Given the description of an element on the screen output the (x, y) to click on. 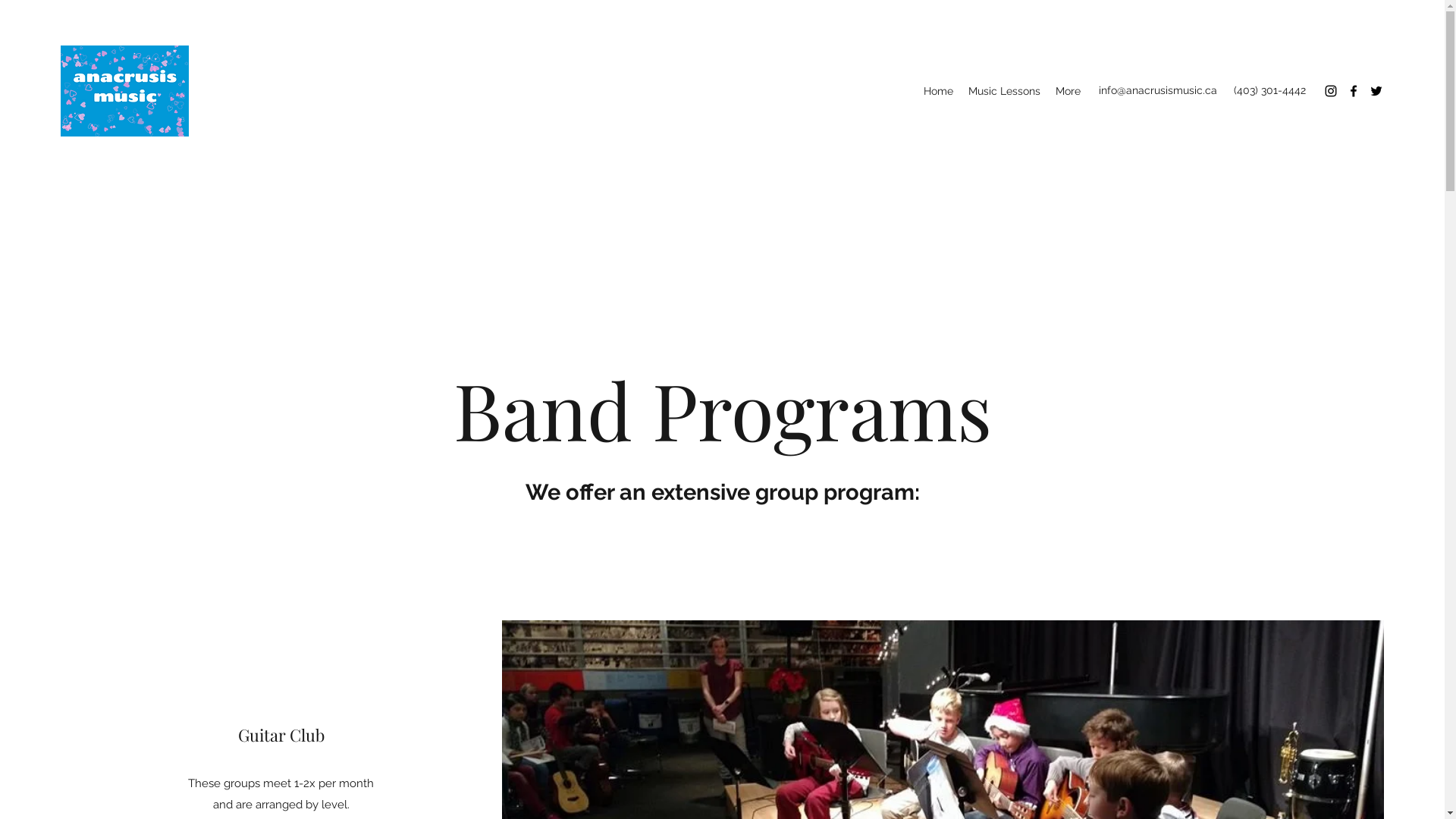
Home Element type: text (938, 90)
Music Lessons Element type: text (1004, 90)
info@anacrusismusic.ca Element type: text (1157, 90)
